Given the description of an element on the screen output the (x, y) to click on. 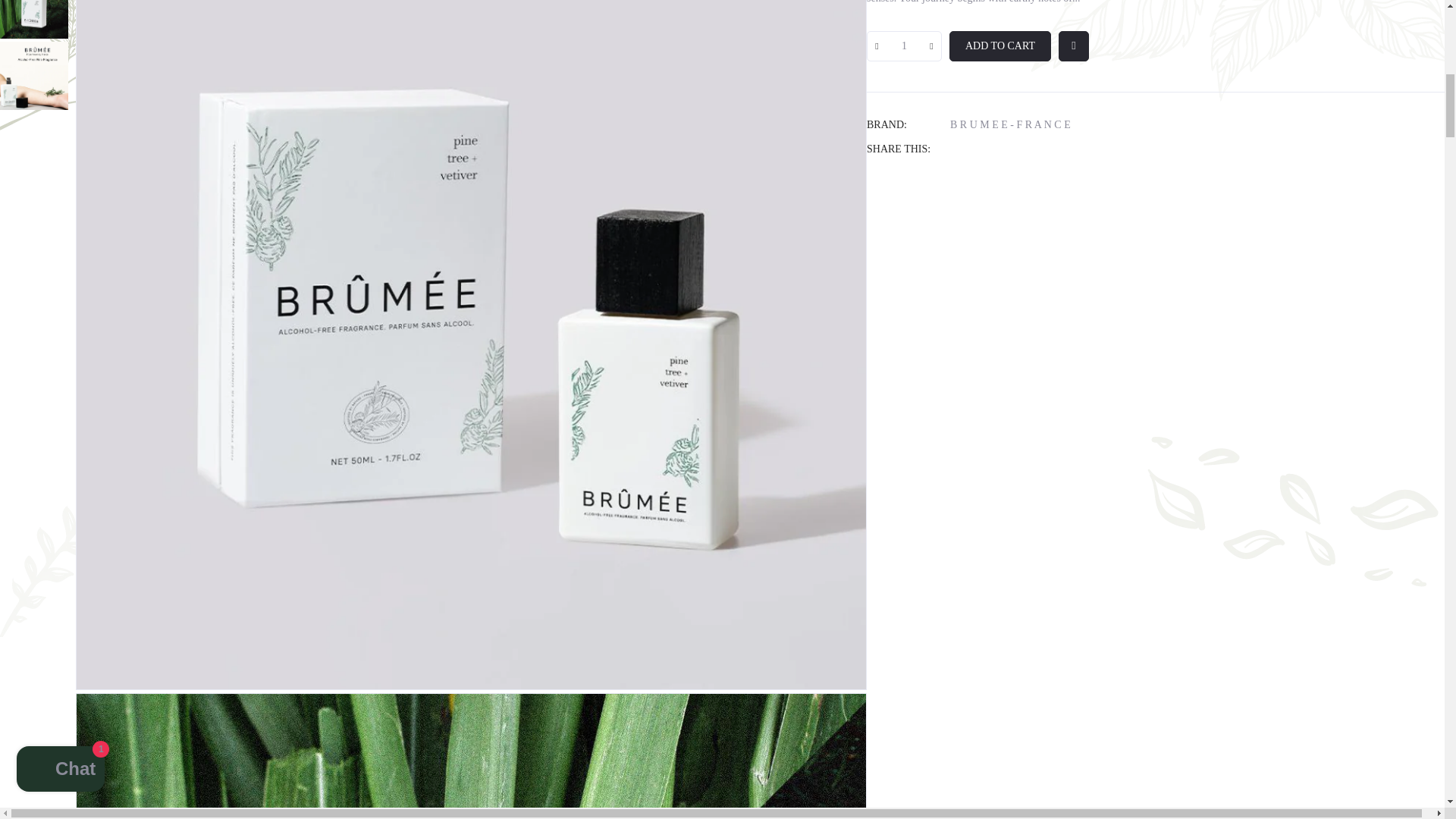
Add To Wishlist (1073, 46)
1 (904, 45)
